Given the description of an element on the screen output the (x, y) to click on. 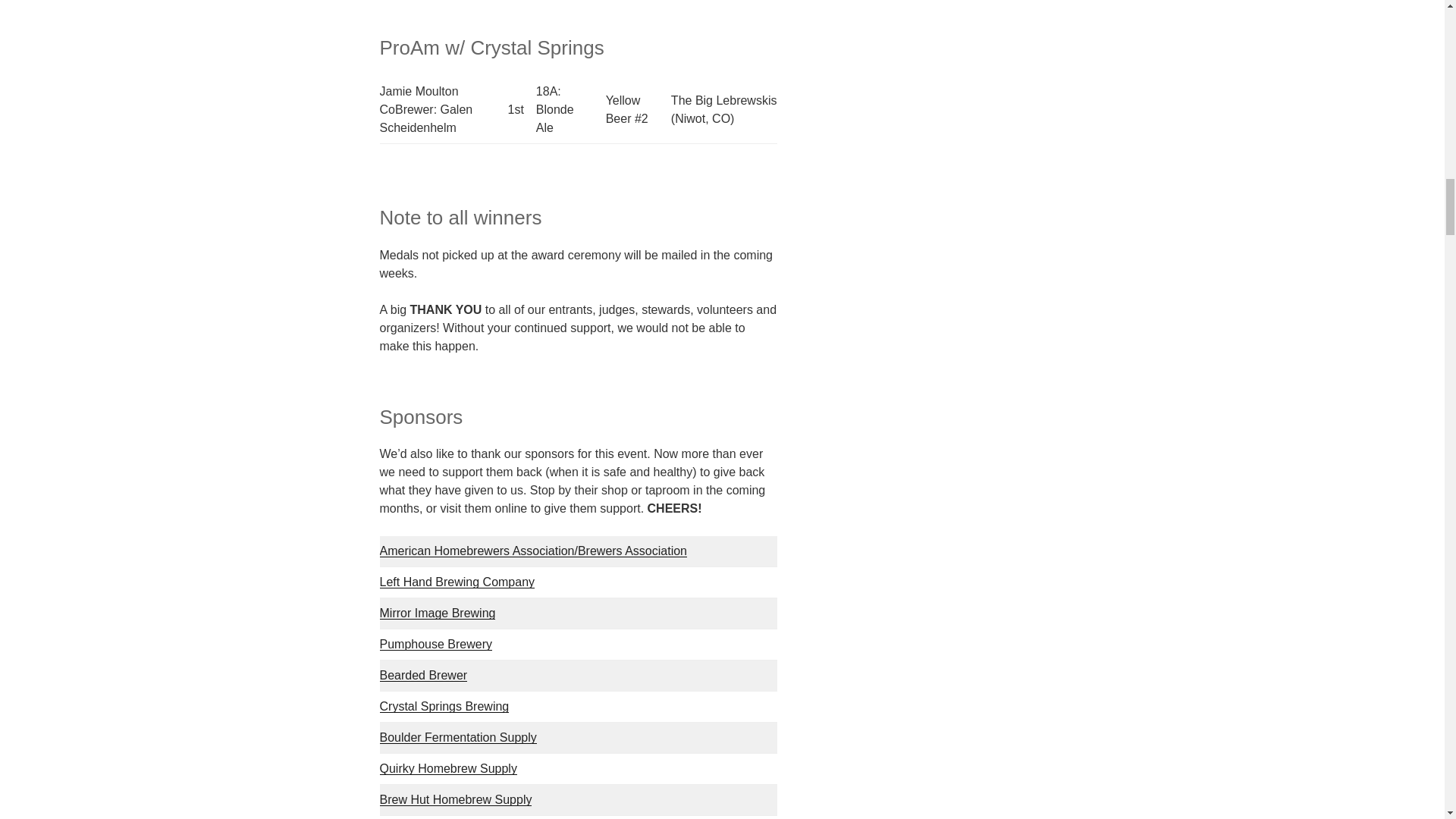
Crystal Springs Brewing (443, 706)
Left Hand Brewing Company (456, 581)
Quirky Homebrew Supply (447, 768)
Mirror Image Brewing (436, 612)
Boulder Fermentation Supply (456, 737)
Brew Hut Homebrew Supply (454, 799)
Bearded Brewer (422, 675)
Pumphouse Brewery (435, 644)
